Given the description of an element on the screen output the (x, y) to click on. 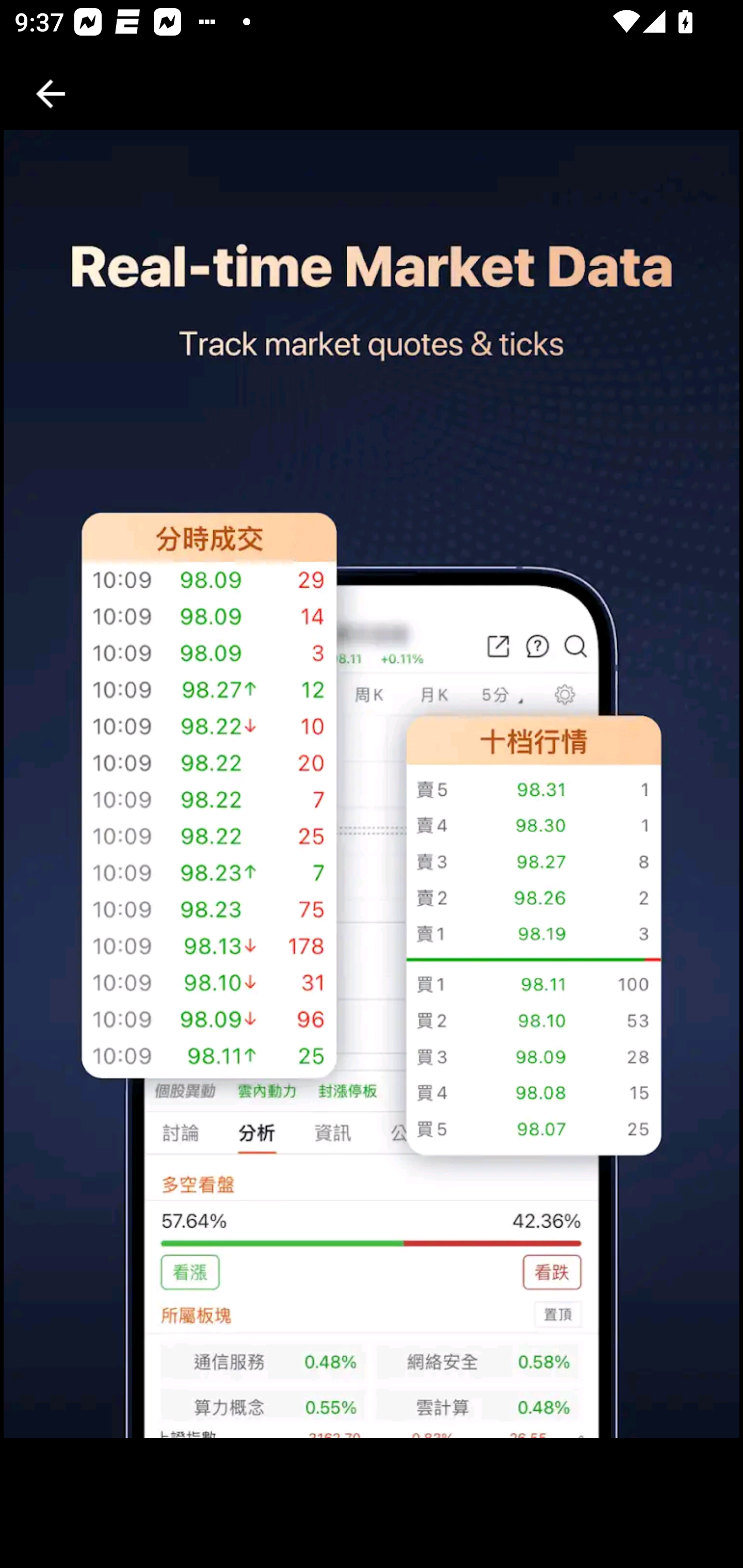
Back (50, 93)
